Given the description of an element on the screen output the (x, y) to click on. 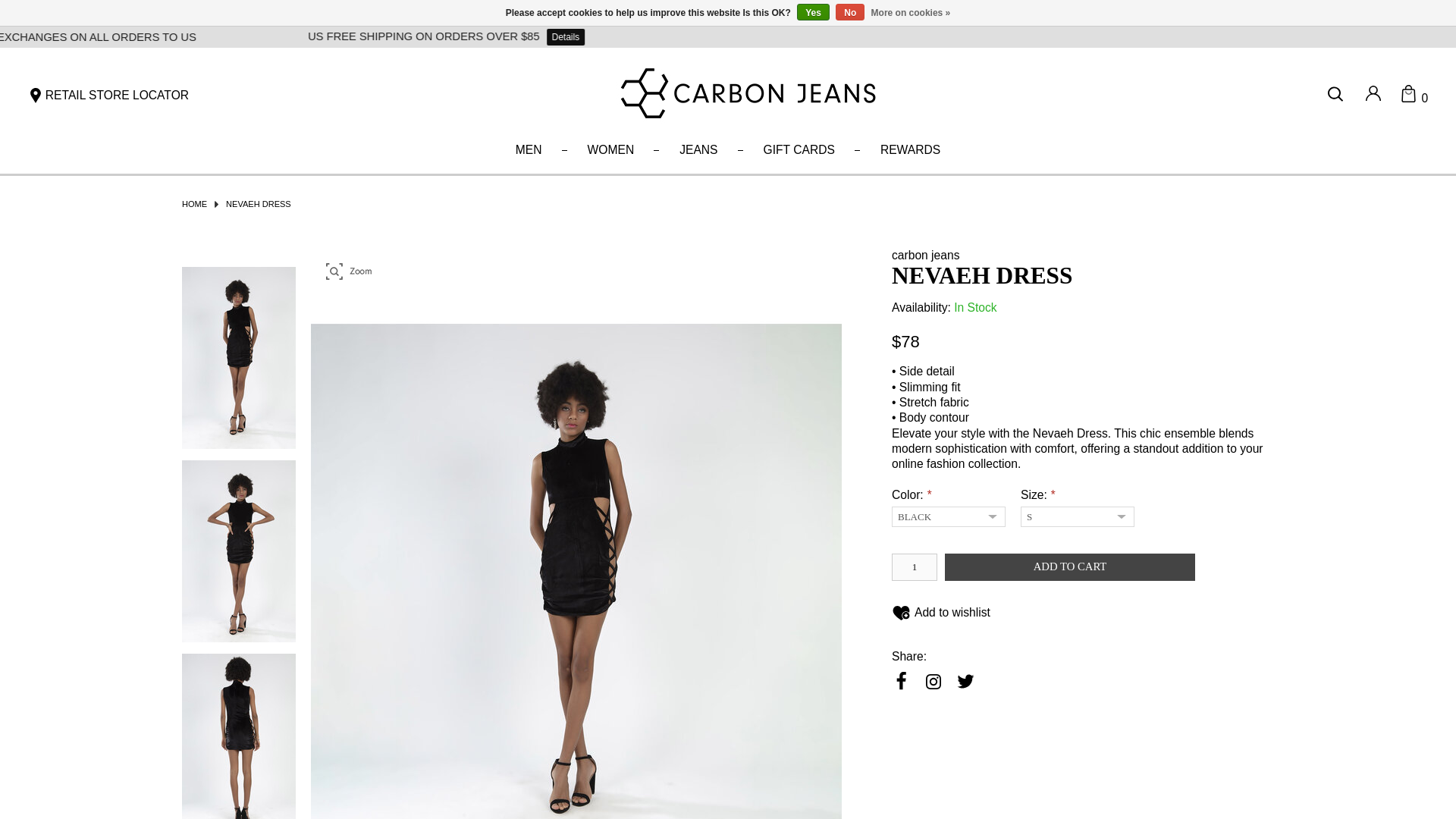
MEN (528, 150)
RETAIL STORE LOCATOR (108, 95)
1 (914, 566)
0 (1413, 97)
More on cookies (910, 13)
No (849, 12)
Details (656, 36)
Search (1336, 93)
Cart (1413, 97)
Yes (812, 12)
Login (1372, 96)
